Given the description of an element on the screen output the (x, y) to click on. 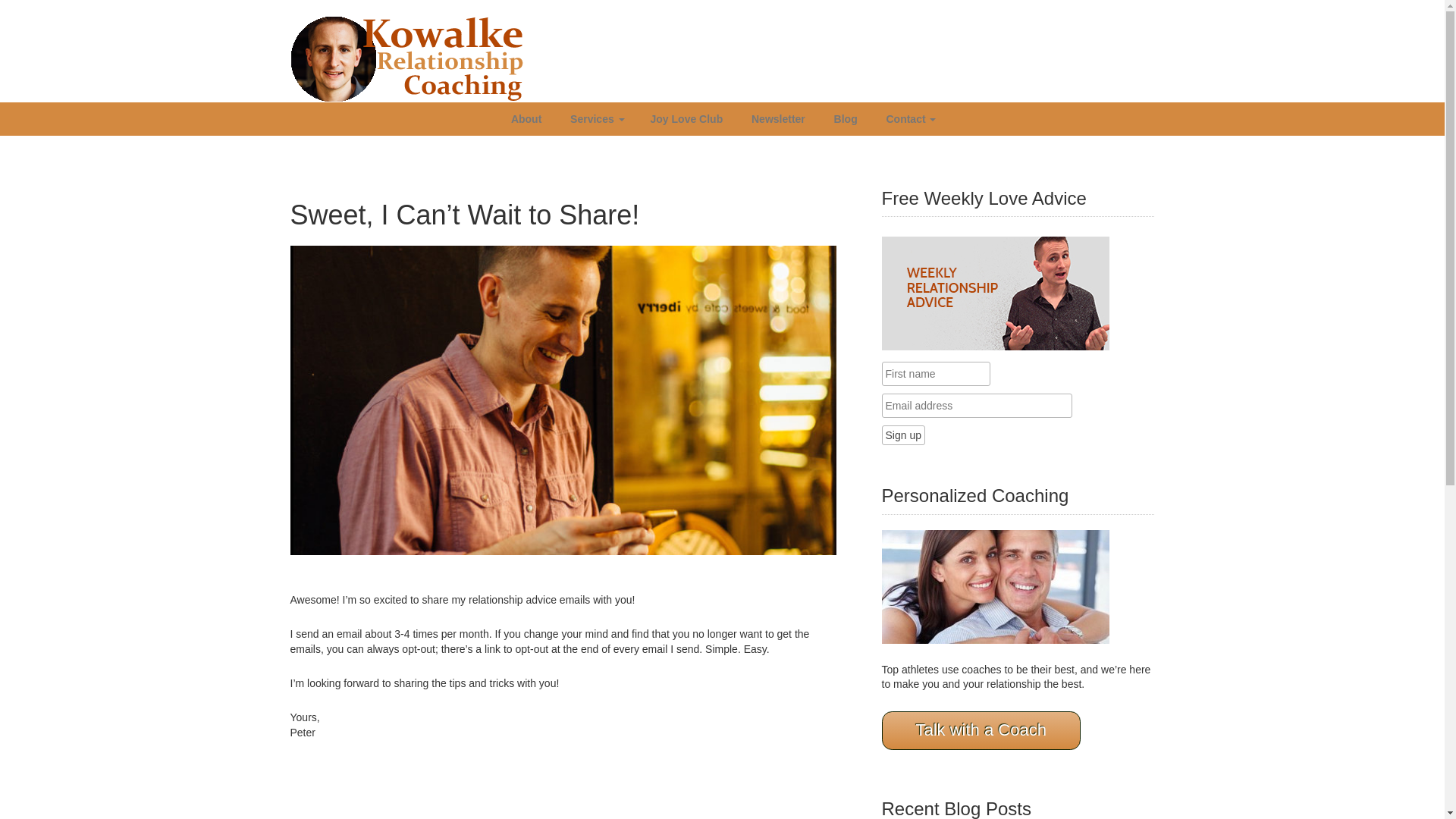
Joy Love Club (687, 118)
About (525, 118)
 Blog (844, 118)
 Services (595, 118)
Talk with a Coach (980, 730)
Joy Love Club (687, 118)
 About (525, 118)
Blog (844, 118)
Newsletter (776, 118)
Sign up (902, 435)
Sign up (902, 435)
Services (595, 118)
Contact (909, 118)
 Newsletter (776, 118)
 Contact (909, 118)
